Given the description of an element on the screen output the (x, y) to click on. 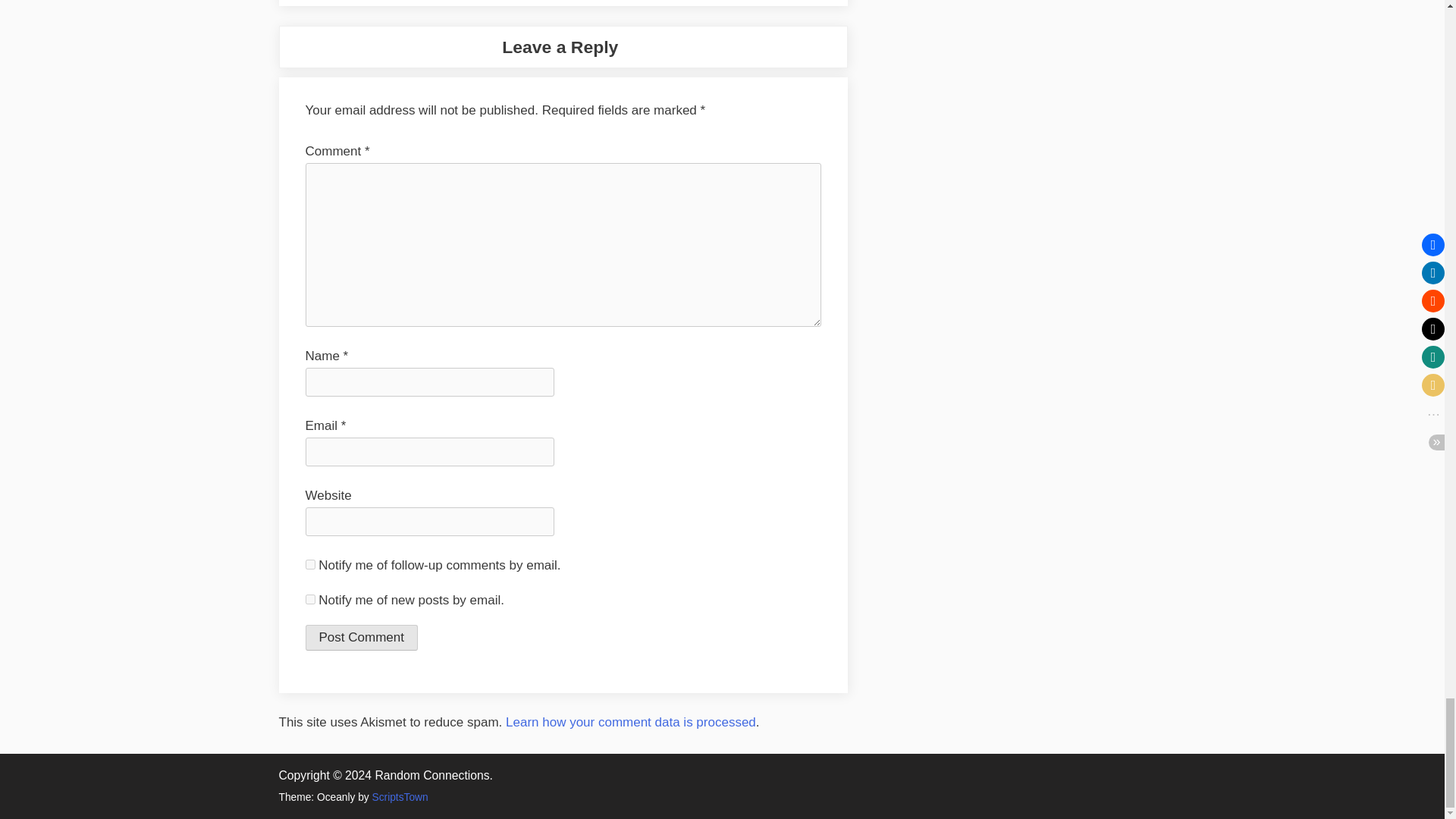
Post Comment (360, 637)
subscribe (309, 564)
subscribe (309, 599)
